Given the description of an element on the screen output the (x, y) to click on. 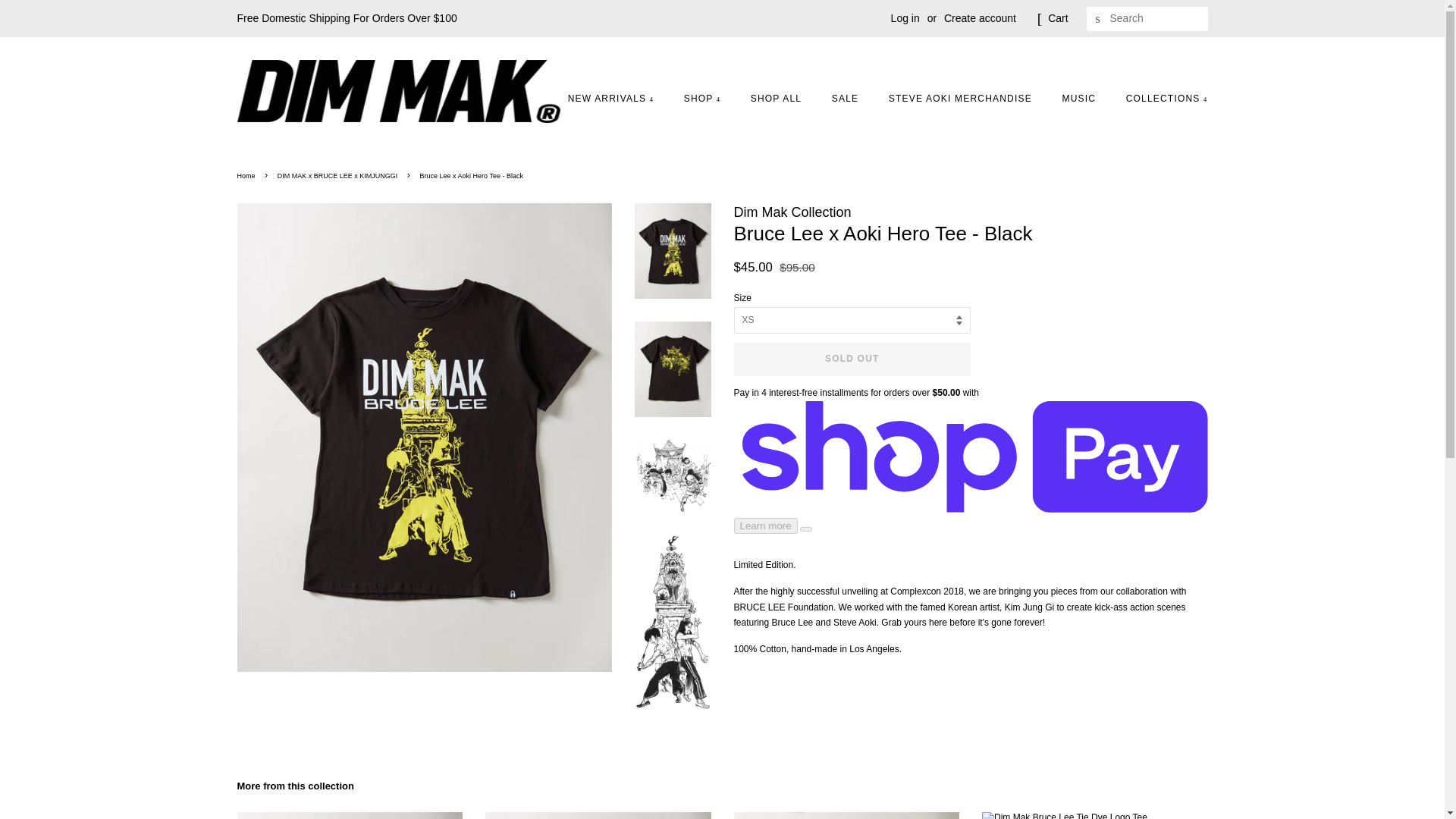
Create account (979, 18)
SEARCH (1097, 18)
Cart (1057, 18)
Back to the frontpage (247, 175)
Log in (905, 18)
